Given the description of an element on the screen output the (x, y) to click on. 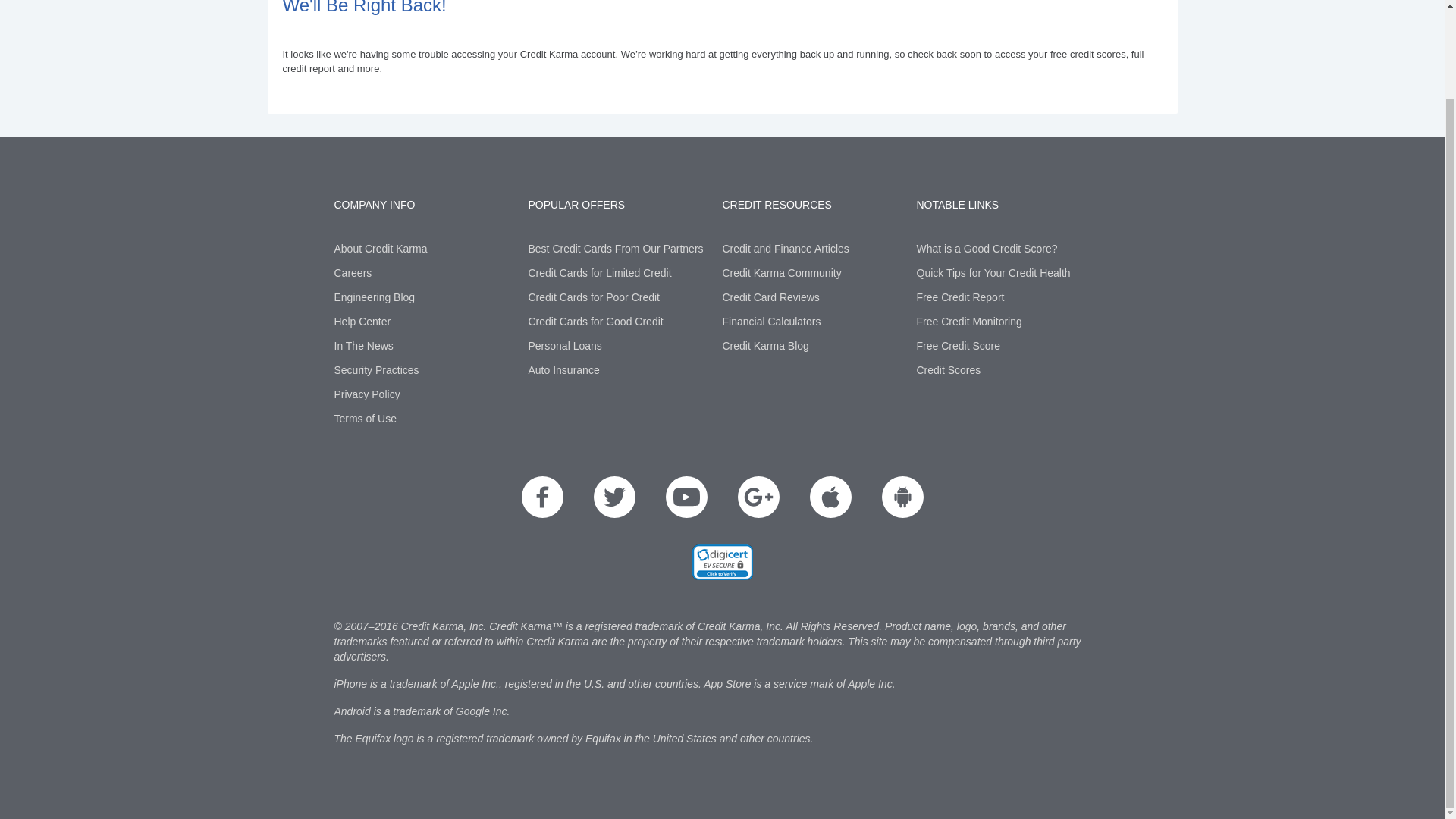
YouTube (686, 496)
Download Android App (901, 496)
Facebook (542, 496)
Twitter (613, 496)
Google Plus (757, 496)
Download iOS App (830, 496)
